Given the description of an element on the screen output the (x, y) to click on. 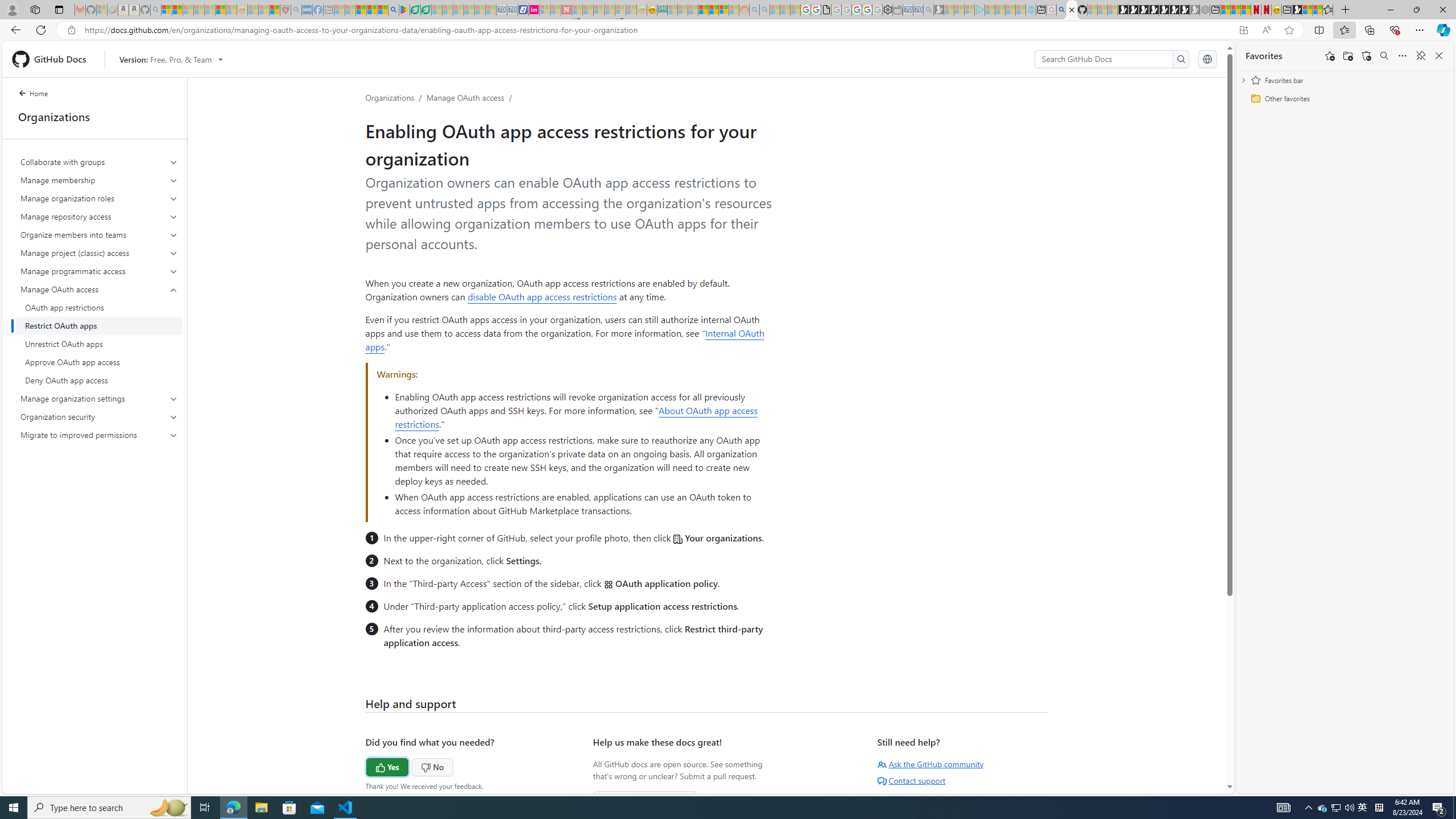
About OAuth app access restrictions (576, 416)
Deny OAuth app access (99, 380)
Unpin favorites (1420, 55)
Migrate to improved permissions (99, 434)
OAuth app restrictions (99, 307)
